Given the description of an element on the screen output the (x, y) to click on. 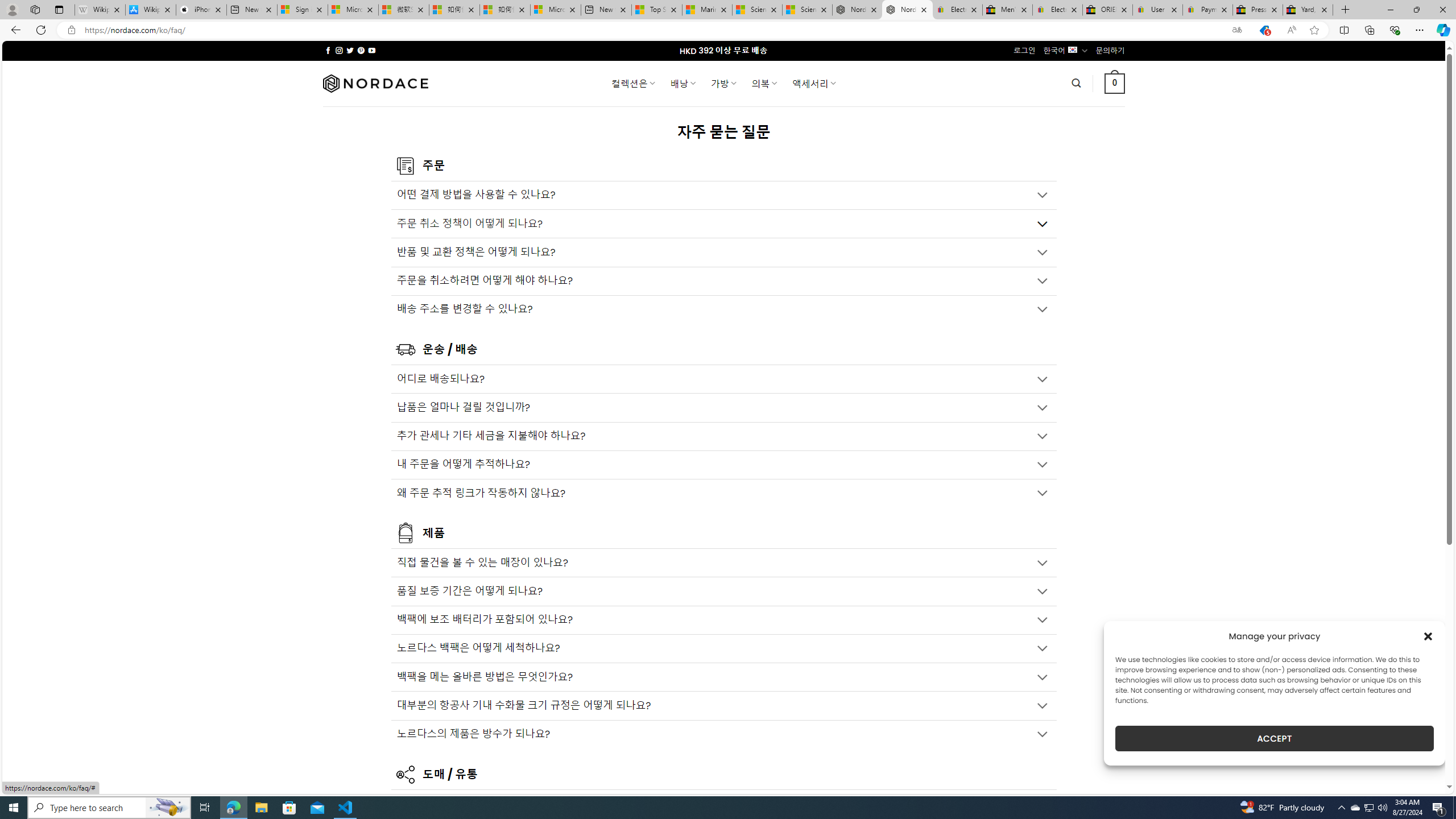
Follow on Instagram (338, 50)
